Given the description of an element on the screen output the (x, y) to click on. 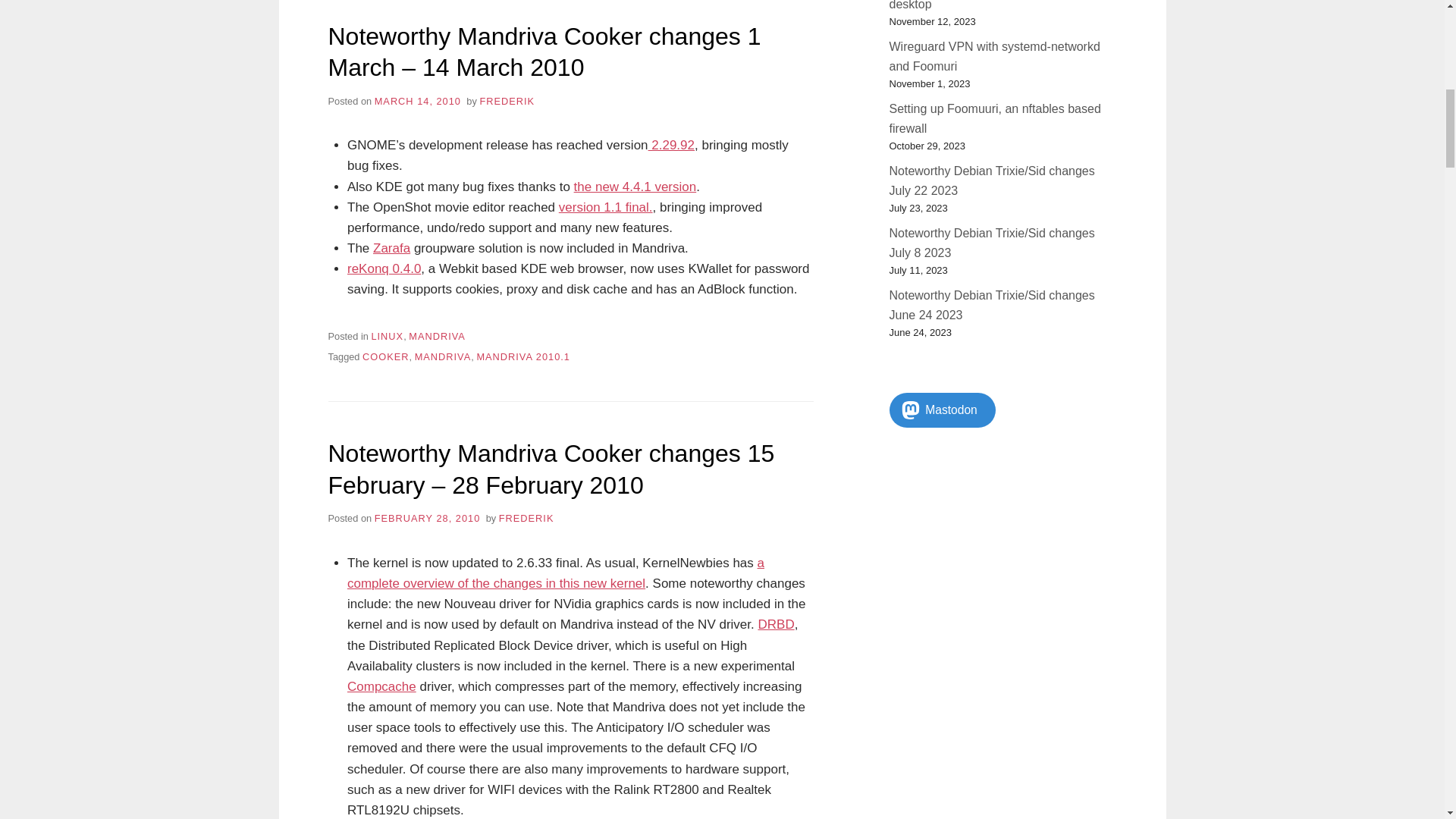
FREDERIK (526, 518)
reKonq 0.4.0 (383, 268)
DRBD (775, 624)
MARCH 14, 2010 (417, 101)
FEBRUARY 28, 2010 (427, 518)
version 1.1 final. (605, 206)
MANDRIVA (442, 356)
COOKER (385, 356)
FREDERIK (506, 101)
Compcache (381, 686)
LINUX (387, 336)
2.29.92 (670, 145)
Zarafa (391, 247)
MANDRIVA (437, 336)
the new 4.4.1 version (635, 186)
